Given the description of an element on the screen output the (x, y) to click on. 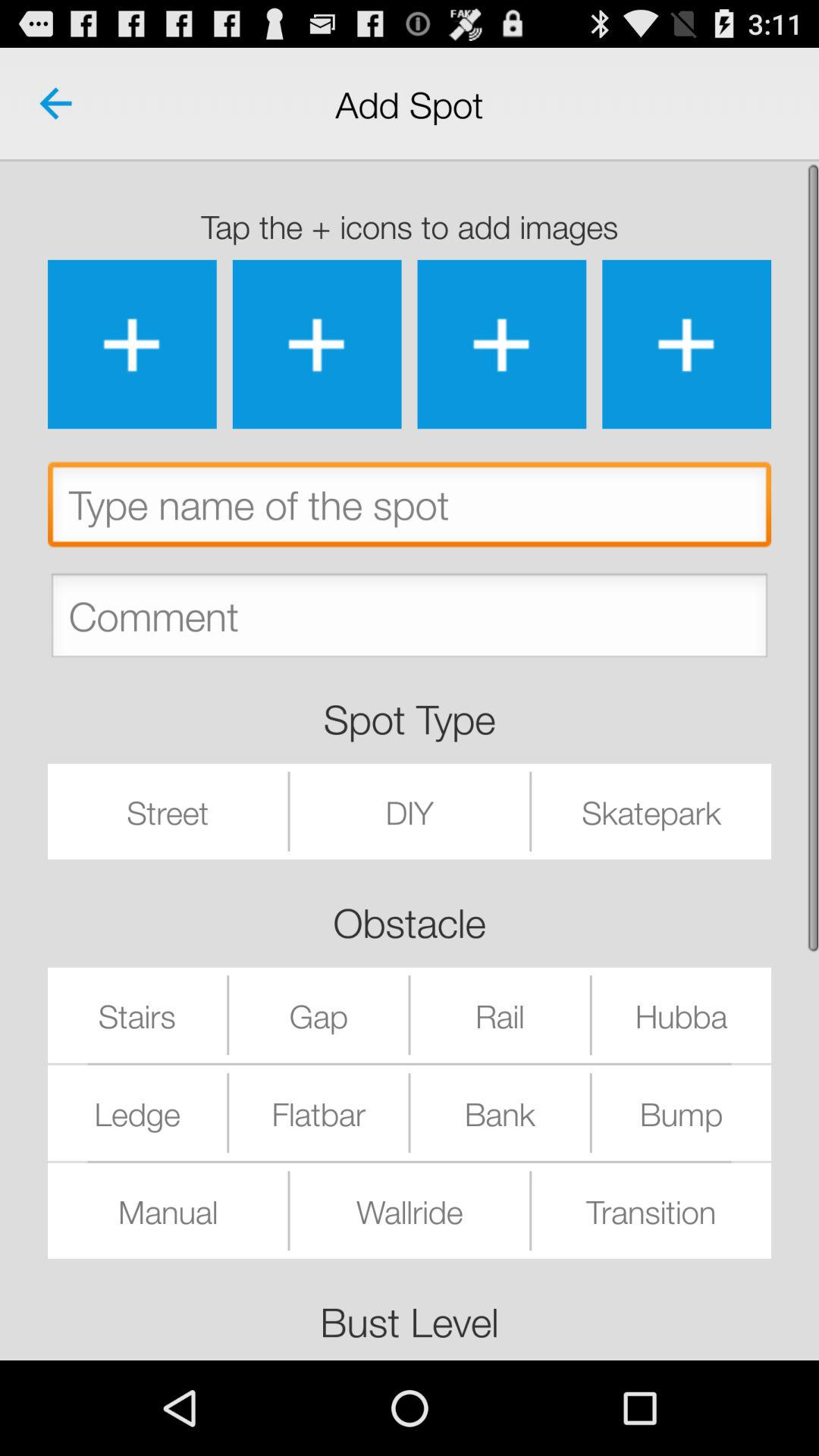
turn off the item below the obstacle (318, 1014)
